Given the description of an element on the screen output the (x, y) to click on. 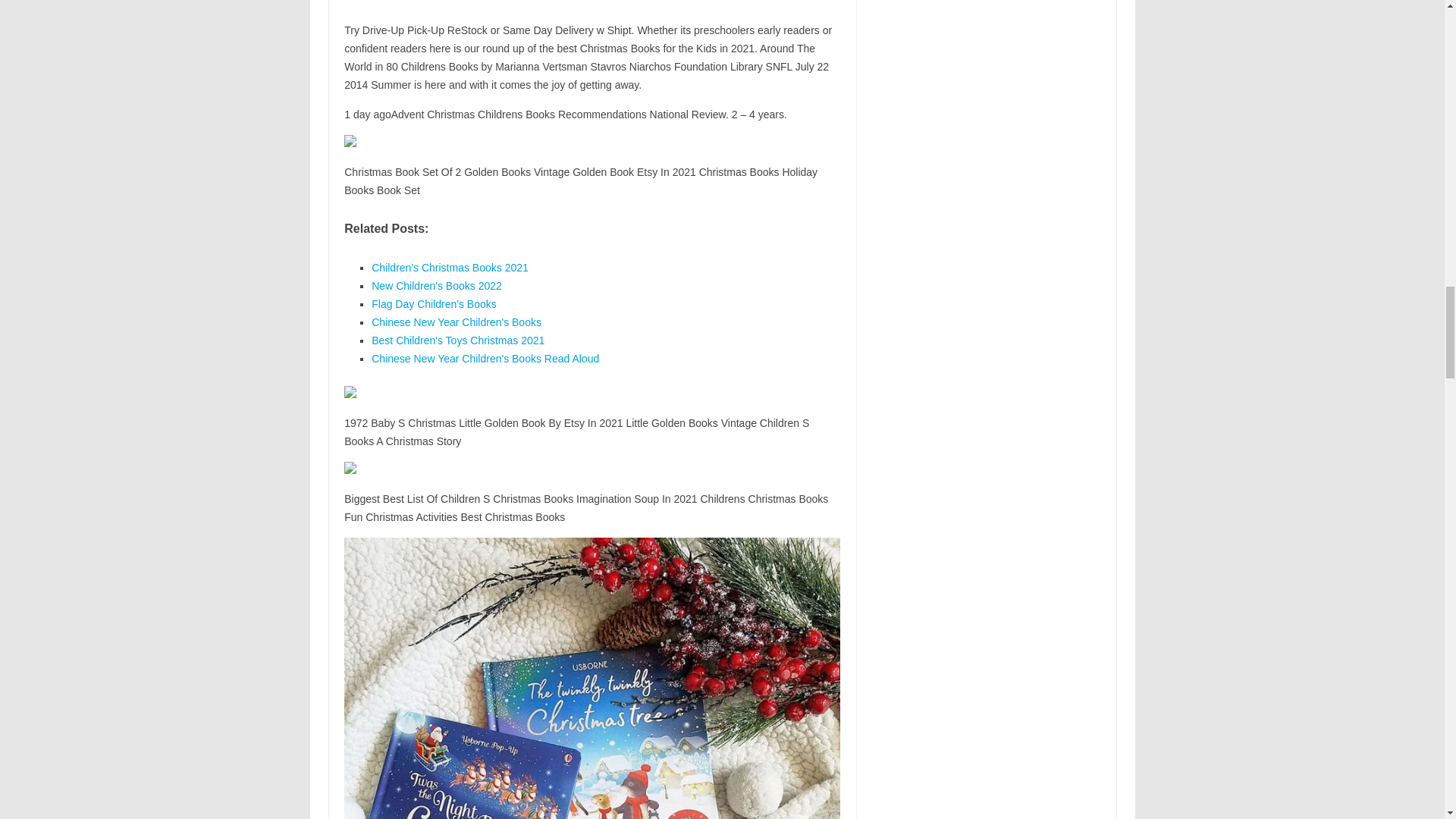
See also  Best Cars Of 2022 (591, 5)
Flag Day Children's Books (433, 304)
Best Children's Toys Christmas 2021 (457, 340)
Chinese New Year Children's Books (456, 322)
New Children's Books 2022 (436, 285)
Chinese New Year Children's Books Read Aloud (484, 358)
Children's Christmas Books 2021 (449, 267)
